Given the description of an element on the screen output the (x, y) to click on. 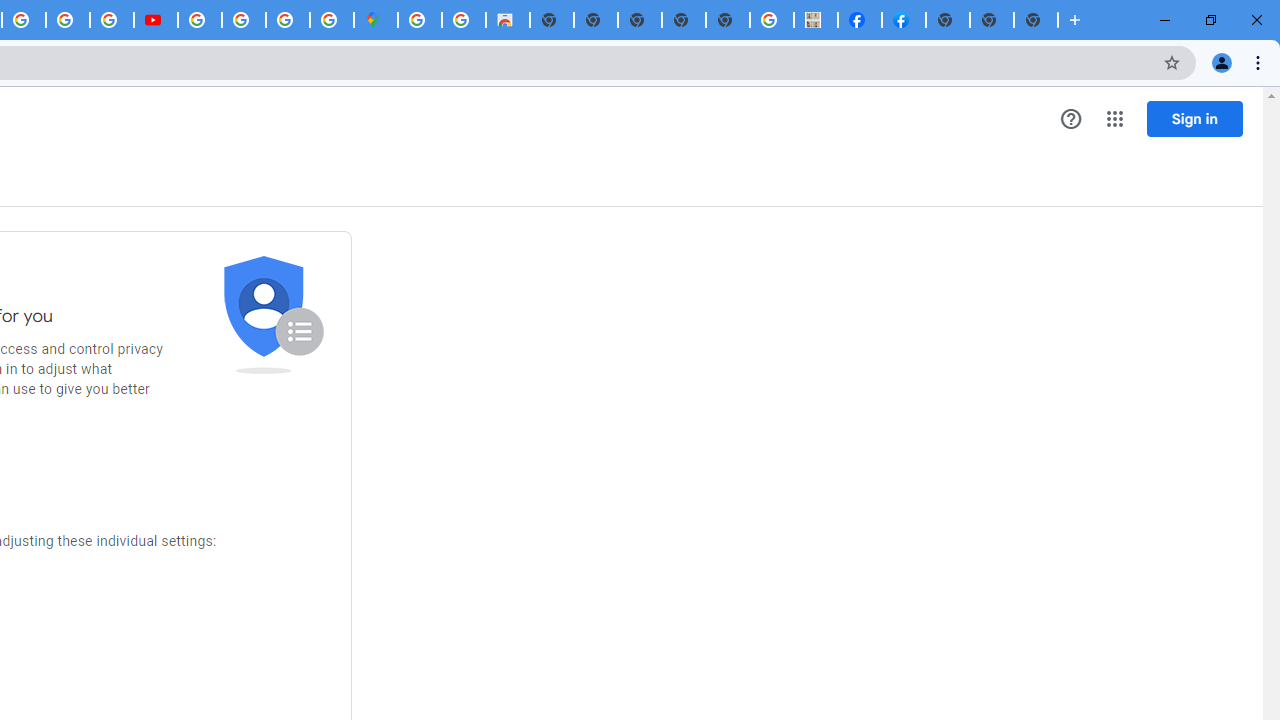
Subscriptions - YouTube (155, 20)
New Tab (1035, 20)
Chrome Web Store - Shopping (507, 20)
Google Maps (376, 20)
How Chrome protects your passwords - Google Chrome Help (199, 20)
